Given the description of an element on the screen output the (x, y) to click on. 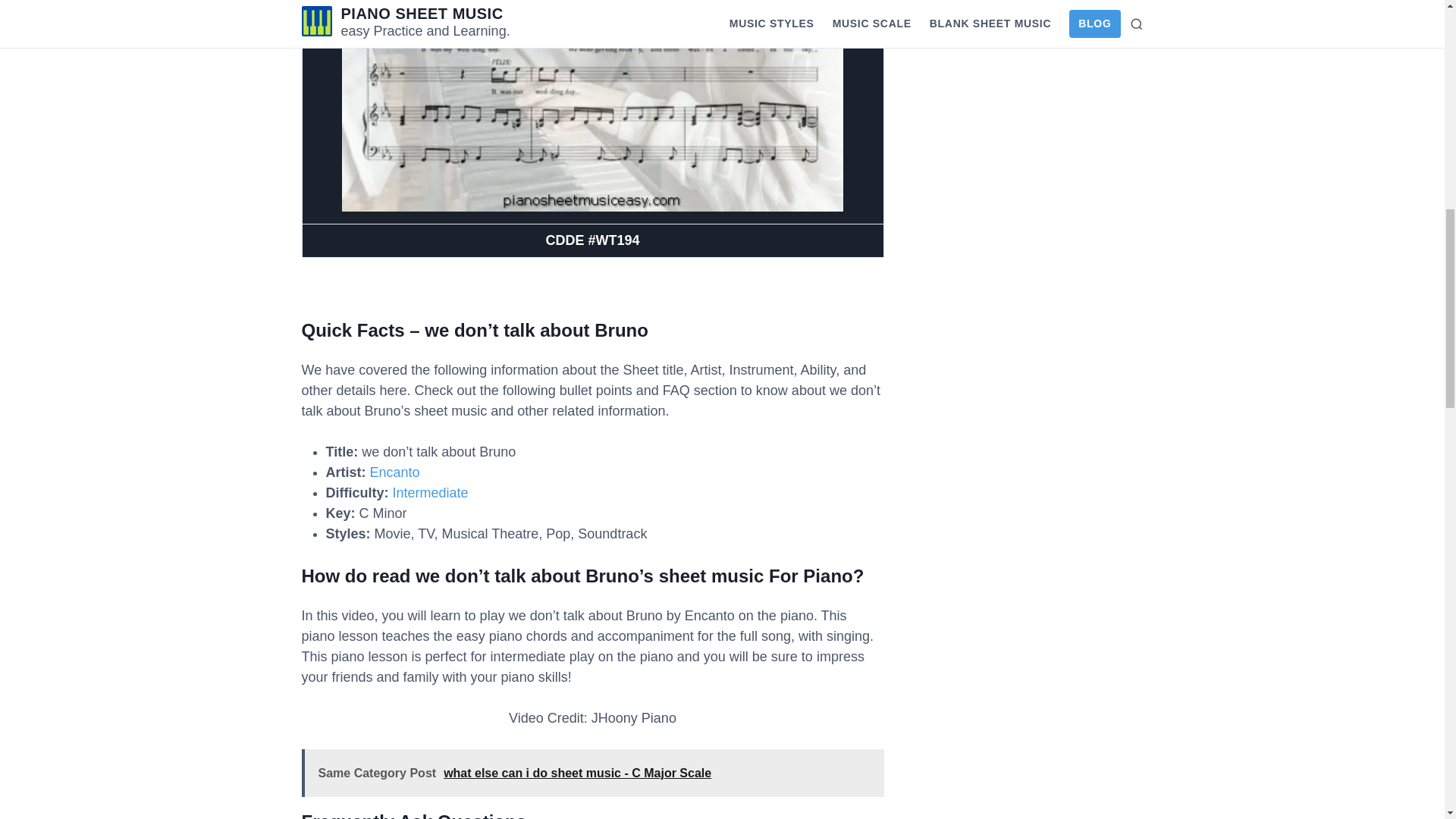
we don't talk about Bruno free piano sheet music (592, 105)
Intermediate (430, 492)
Encanto (394, 472)
